Given the description of an element on the screen output the (x, y) to click on. 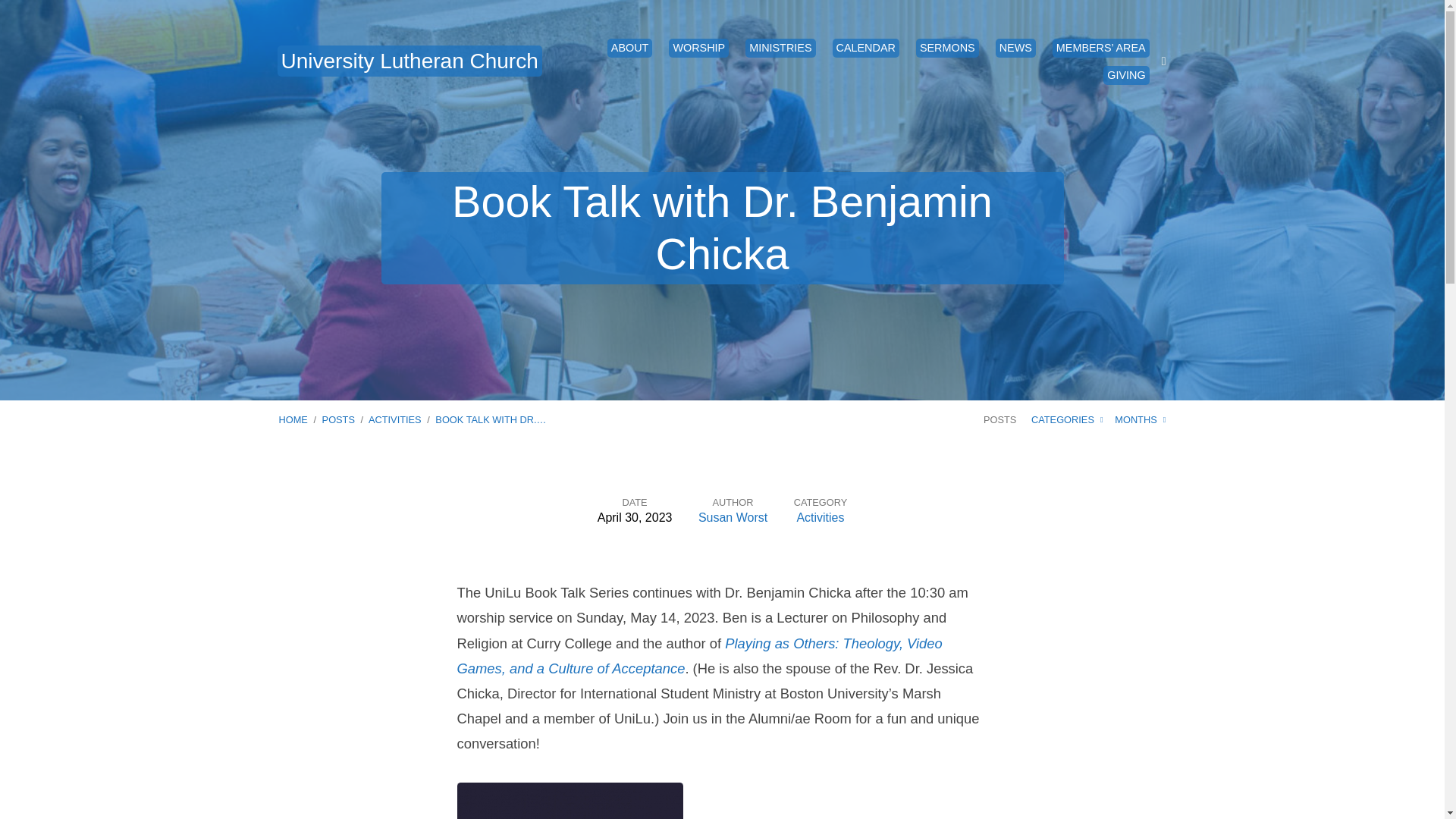
SERMONS (946, 47)
CALENDAR (865, 47)
POSTS (338, 419)
HOME (293, 419)
MINISTRIES (780, 47)
ABOUT (629, 47)
NEWS (1015, 47)
WORSHIP (698, 47)
GIVING (1125, 75)
University Lutheran Church (409, 60)
